Given the description of an element on the screen output the (x, y) to click on. 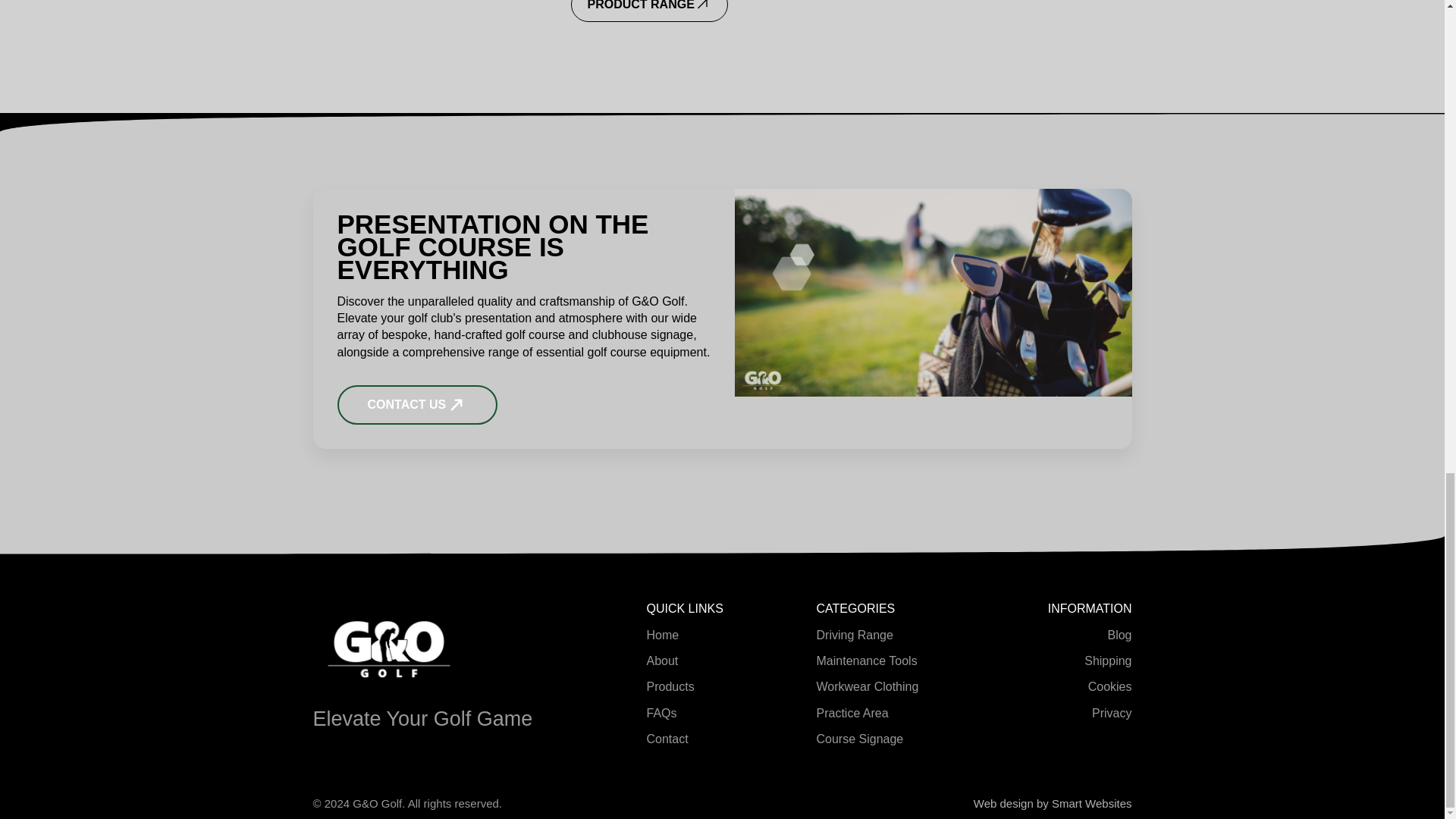
About (662, 660)
Driving Range (853, 635)
CONTACT US (416, 404)
PRODUCT RANGE (649, 11)
Contact (666, 739)
Products (670, 686)
FAQs (661, 713)
Home (662, 635)
